Given the description of an element on the screen output the (x, y) to click on. 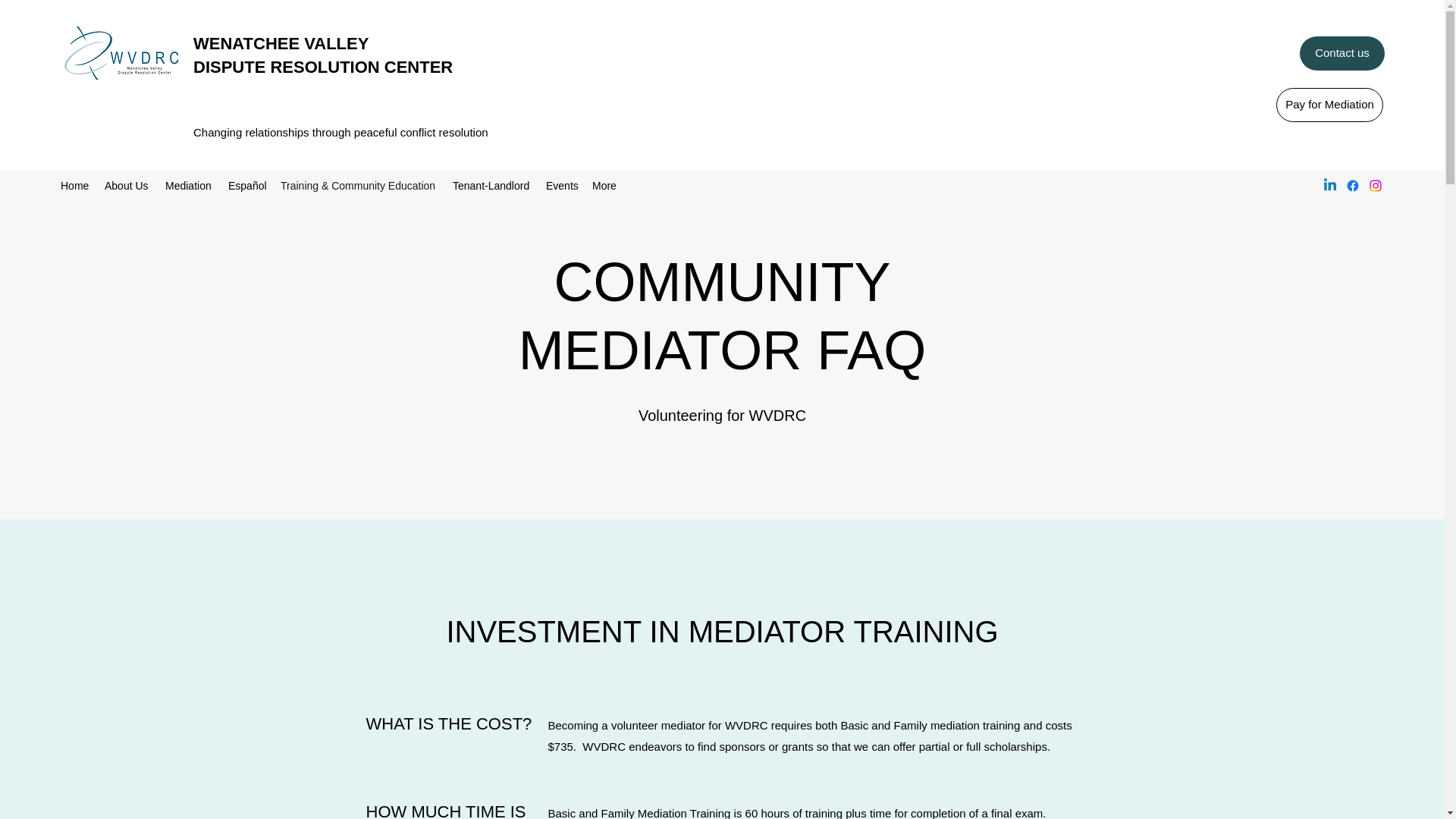
Pay for Mediation (1329, 104)
Tenant-Landlord (491, 185)
Home (74, 185)
About Us (127, 185)
Mediation (189, 185)
Events (561, 185)
Contact us (1342, 53)
